Given the description of an element on the screen output the (x, y) to click on. 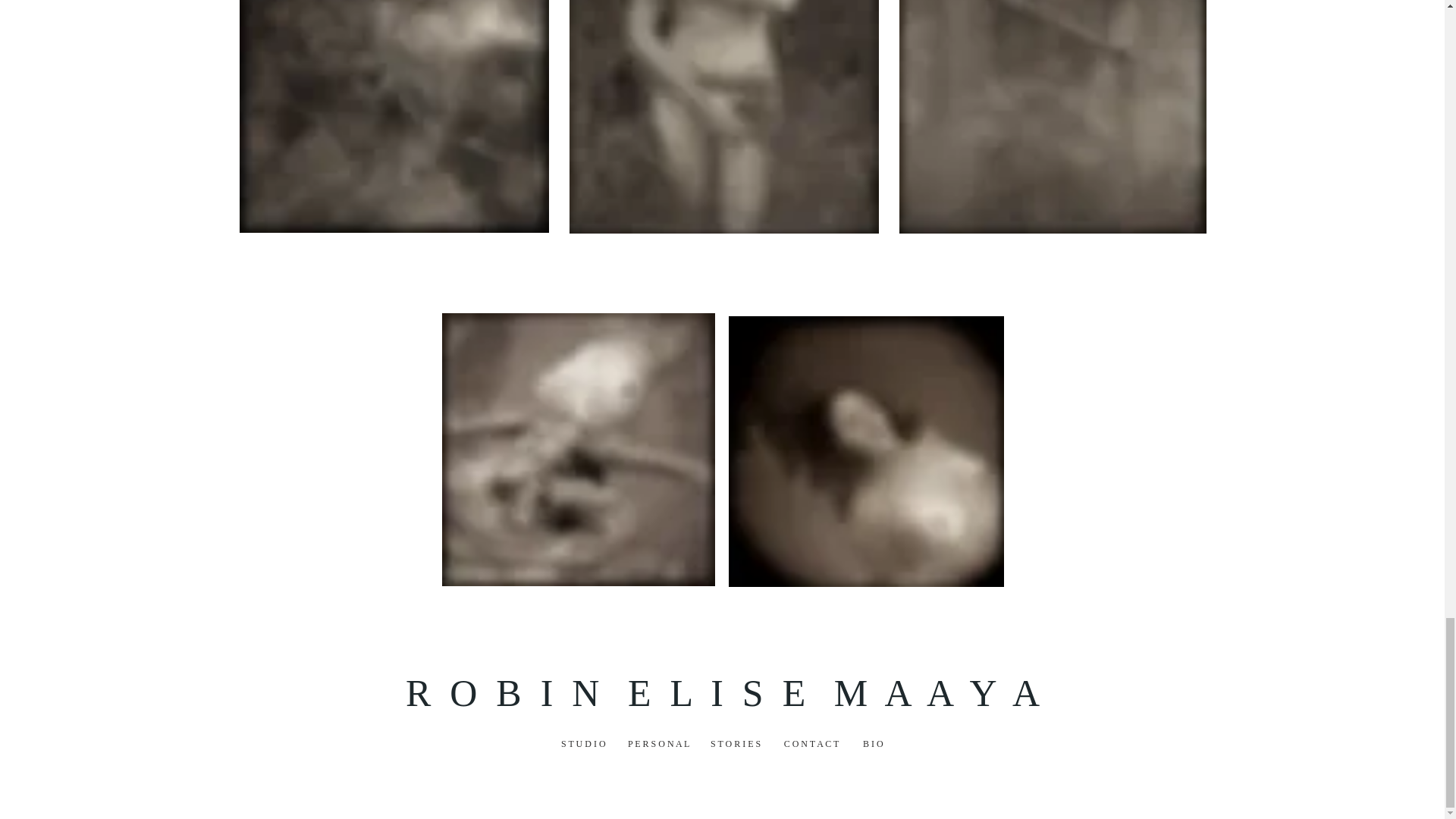
R  O  B  I  N   E  L  I  S  E   M  A  A  Y  A (722, 692)
S T O R I E S (734, 744)
B I O (872, 744)
P E R S O N A L (656, 744)
S T U D I O (582, 744)
C O N T A C T (811, 744)
